Given the description of an element on the screen output the (x, y) to click on. 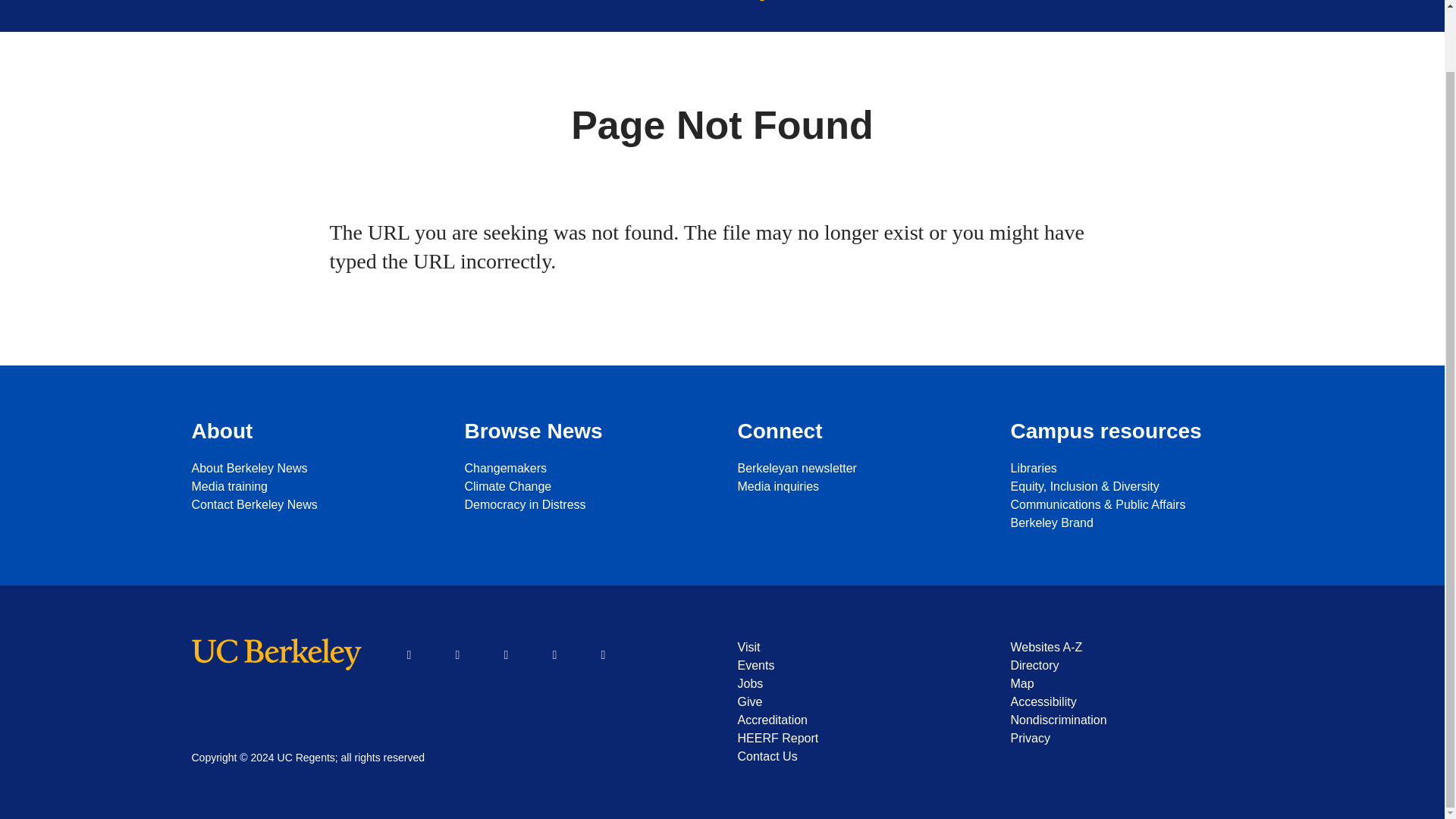
Events (857, 665)
Visit (857, 647)
Nondiscrimination (1131, 720)
Medium (603, 654)
Websites A-Z (1131, 647)
Accreditation (857, 720)
About Berkeley News (311, 468)
Berkeleyan newsletter (857, 468)
Contact Us (857, 756)
Democracy in Distress (585, 505)
